Given the description of an element on the screen output the (x, y) to click on. 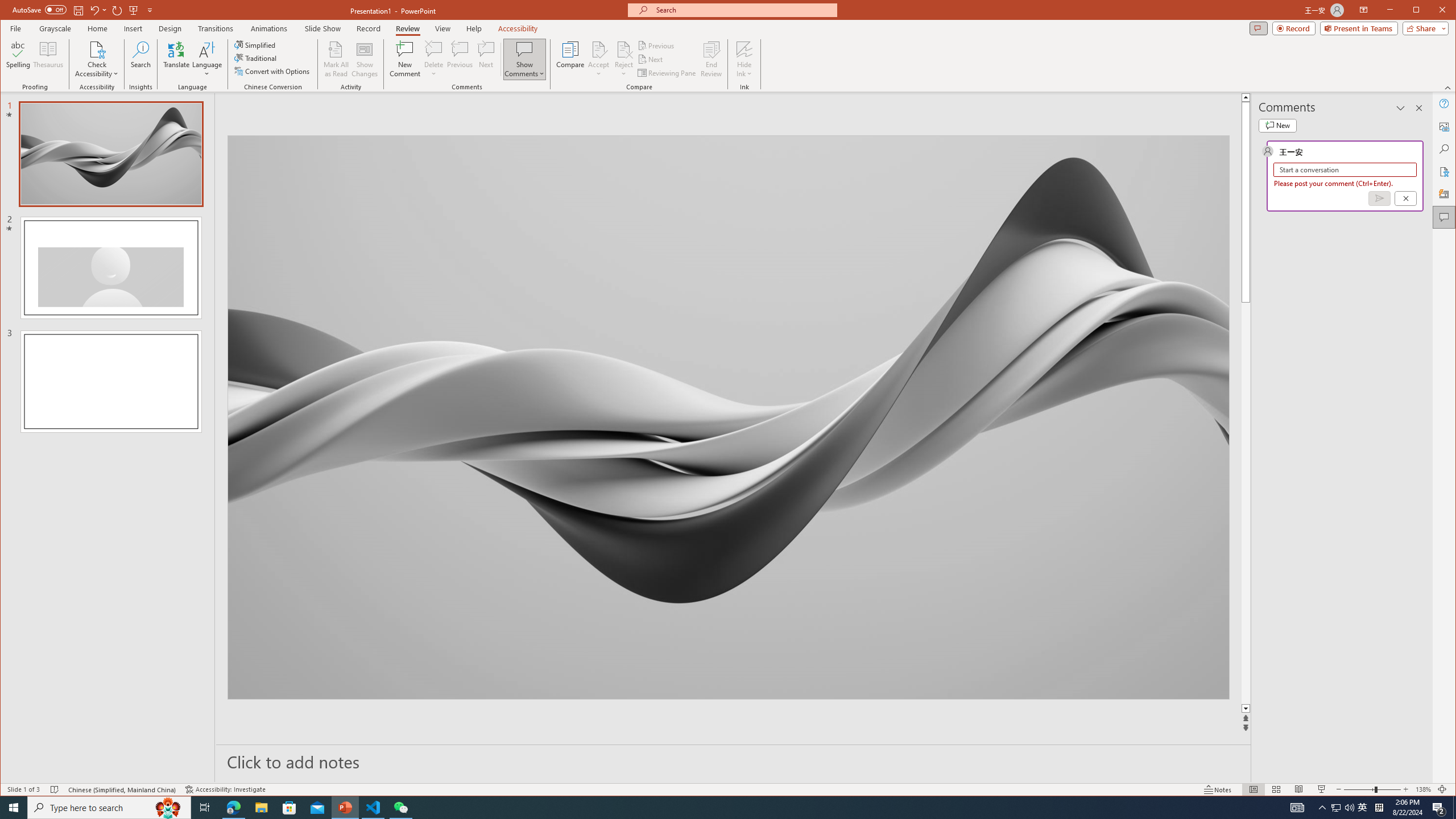
End Review (710, 59)
Mark All as Read (335, 59)
